Given the description of an element on the screen output the (x, y) to click on. 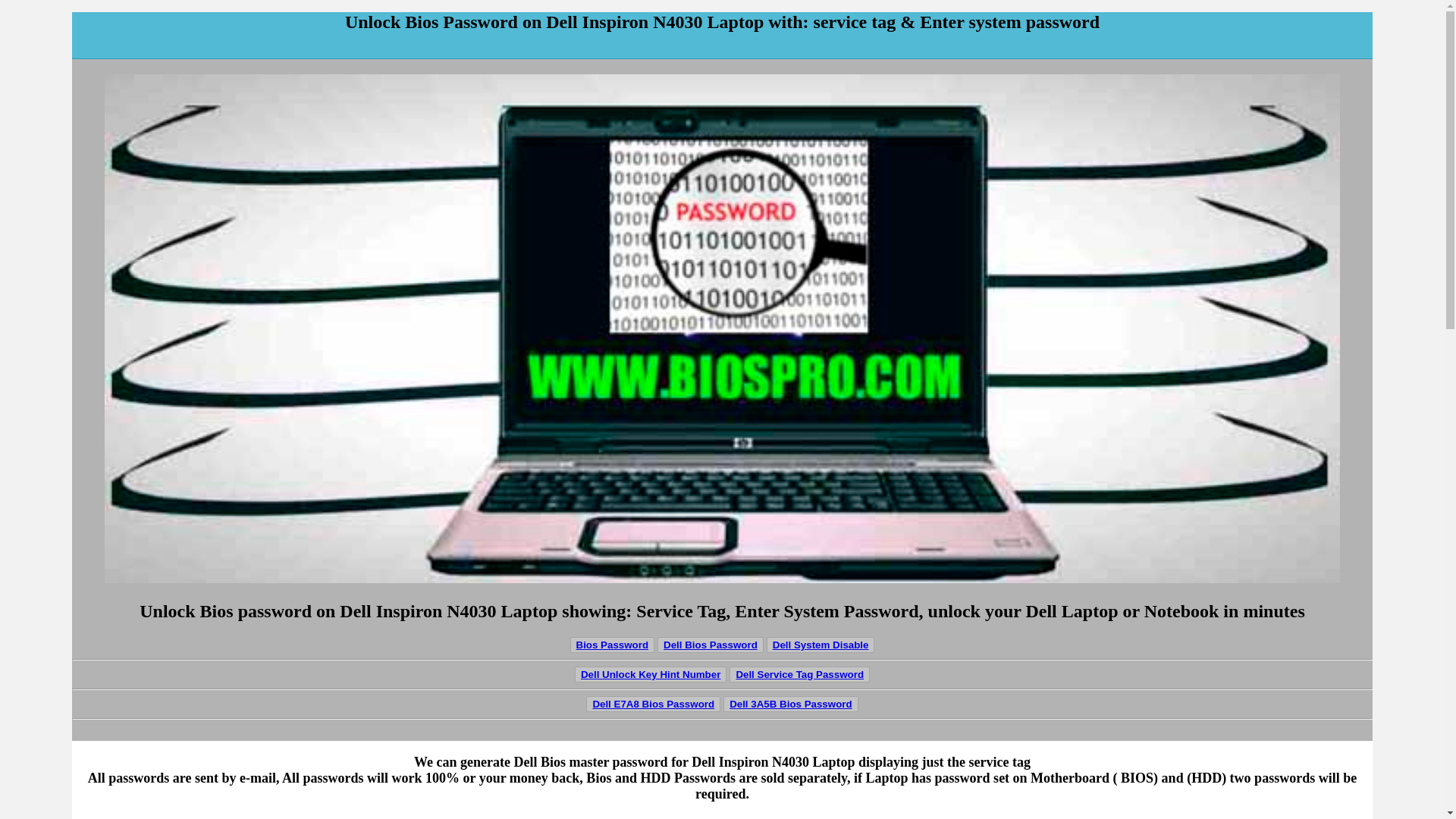
Bios Password (612, 644)
Dell E7A8 Bios Password (653, 704)
Dell E7A8 Bios Password (653, 703)
Dell Unlock Key Hint Number (650, 674)
Dell Bios Password removal (612, 644)
Dell Bios Password (710, 644)
Dell 3A5B Bios Password (790, 704)
Dell E7A8 Bios Password (653, 704)
Dell System Disable (821, 644)
Dell Service Tag Password (799, 674)
